Given the description of an element on the screen output the (x, y) to click on. 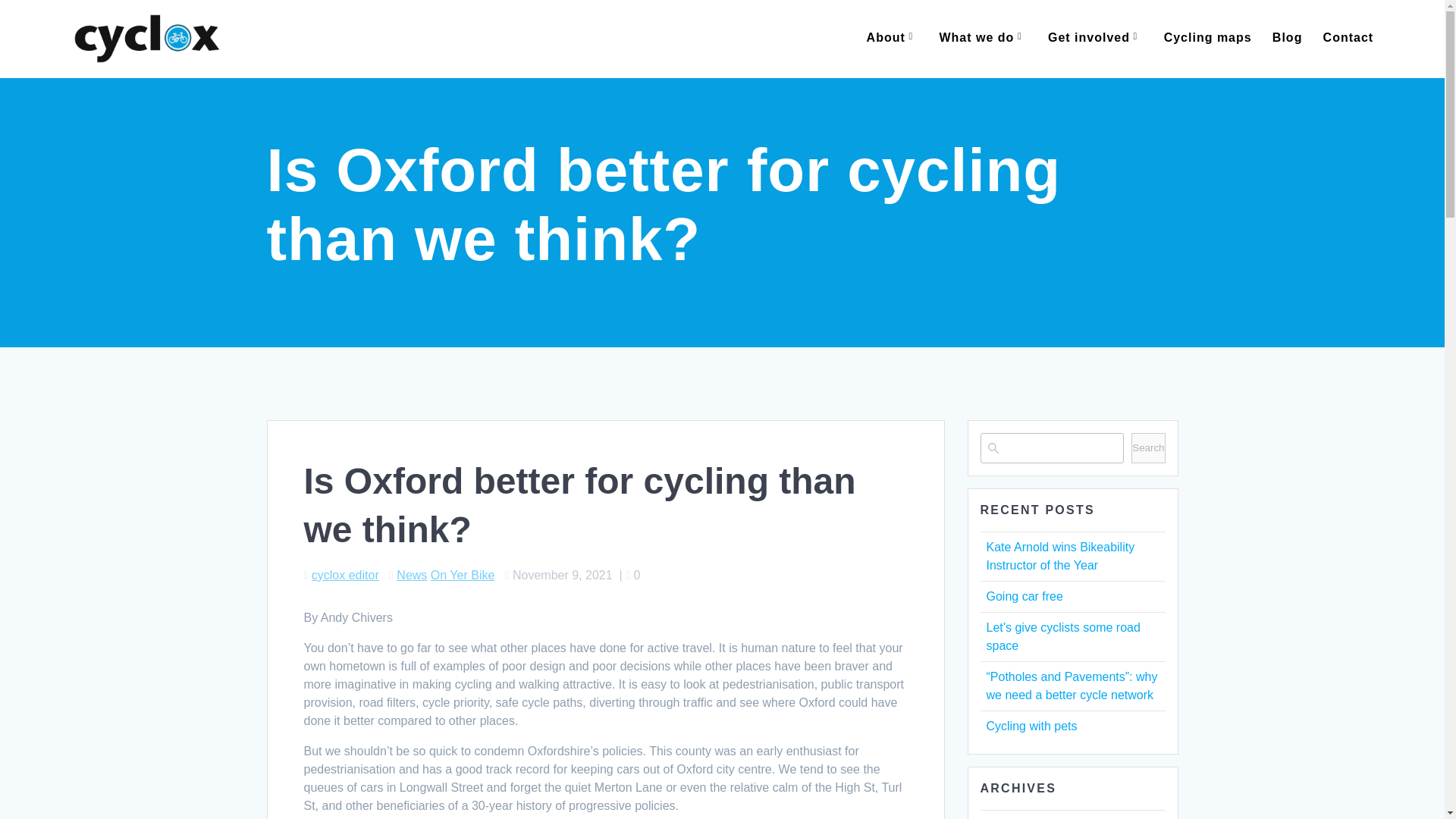
Get involved (1095, 38)
Blog (1287, 38)
Cycling maps (1207, 38)
About (892, 38)
cyclox editor (344, 574)
News (411, 574)
Posts by cyclox editor (344, 574)
What we do (982, 38)
On Yer Bike (462, 574)
Contact (1348, 38)
